Given the description of an element on the screen output the (x, y) to click on. 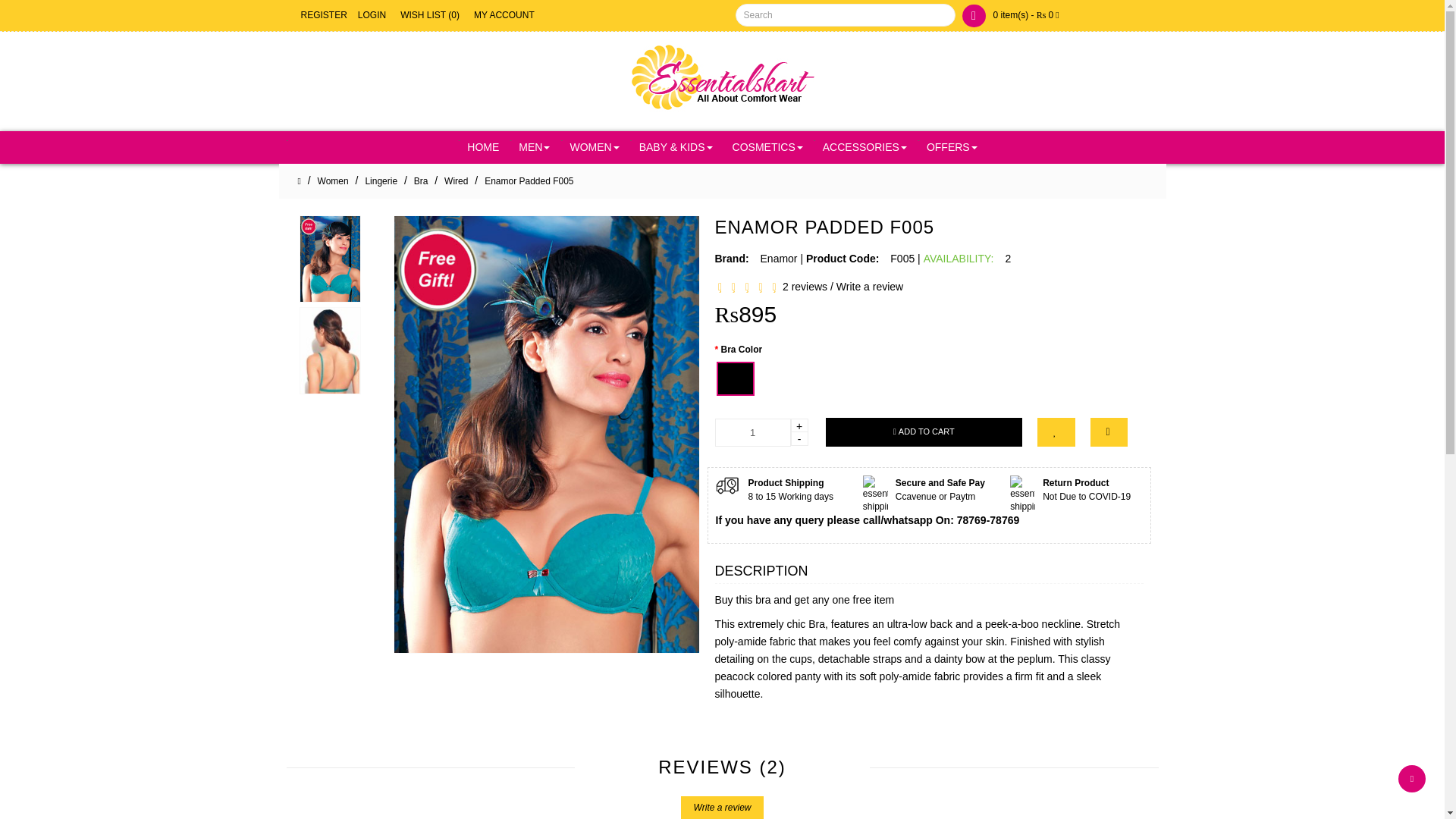
EssentialsKart (721, 78)
MY ACCOUNT (504, 14)
REGISTER (322, 14)
WOMEN (593, 147)
LOGIN (371, 14)
MEN (534, 147)
1 (752, 432)
HOME (483, 147)
